Given the description of an element on the screen output the (x, y) to click on. 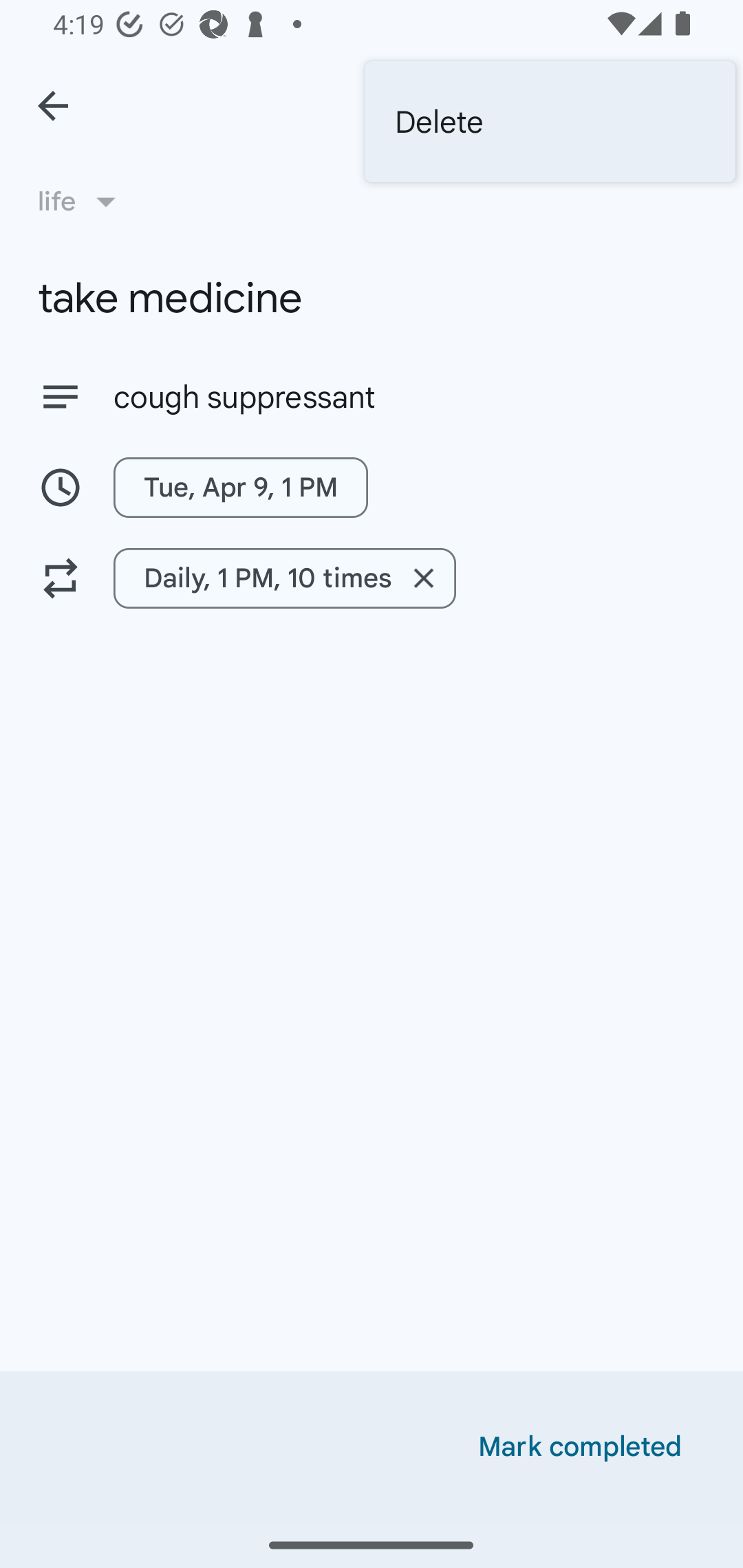
Delete (549, 121)
